Given the description of an element on the screen output the (x, y) to click on. 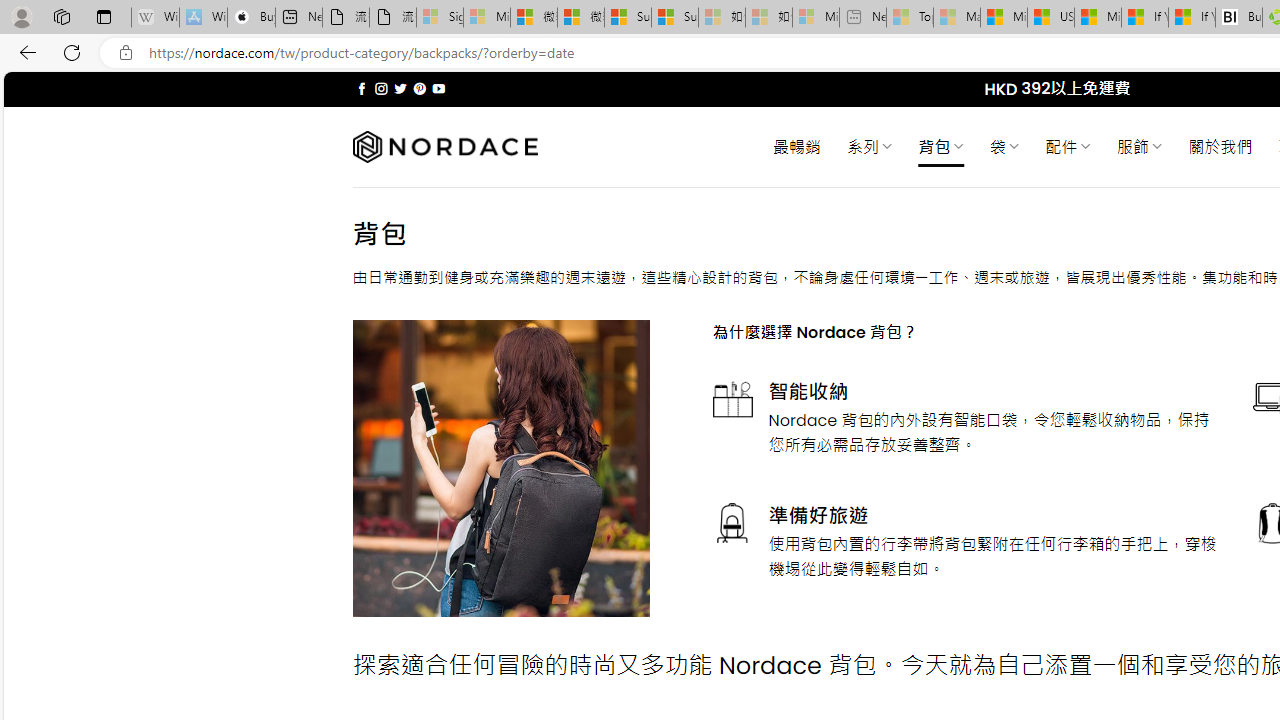
Microsoft account | Account Checkup - Sleeping (815, 17)
Microsoft Services Agreement - Sleeping (486, 17)
Follow on YouTube (438, 88)
